Given the description of an element on the screen output the (x, y) to click on. 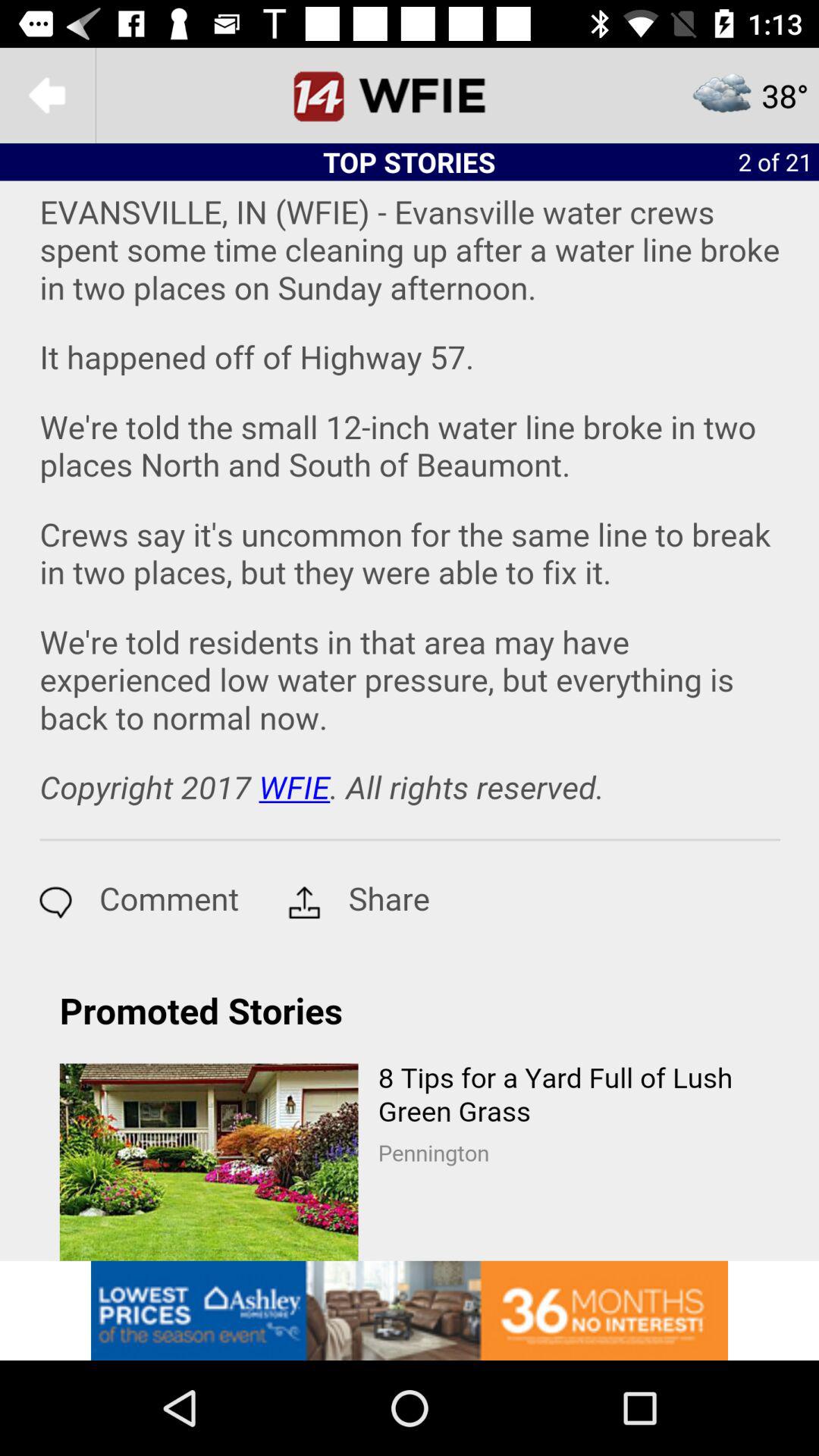
go home (409, 95)
